Given the description of an element on the screen output the (x, y) to click on. 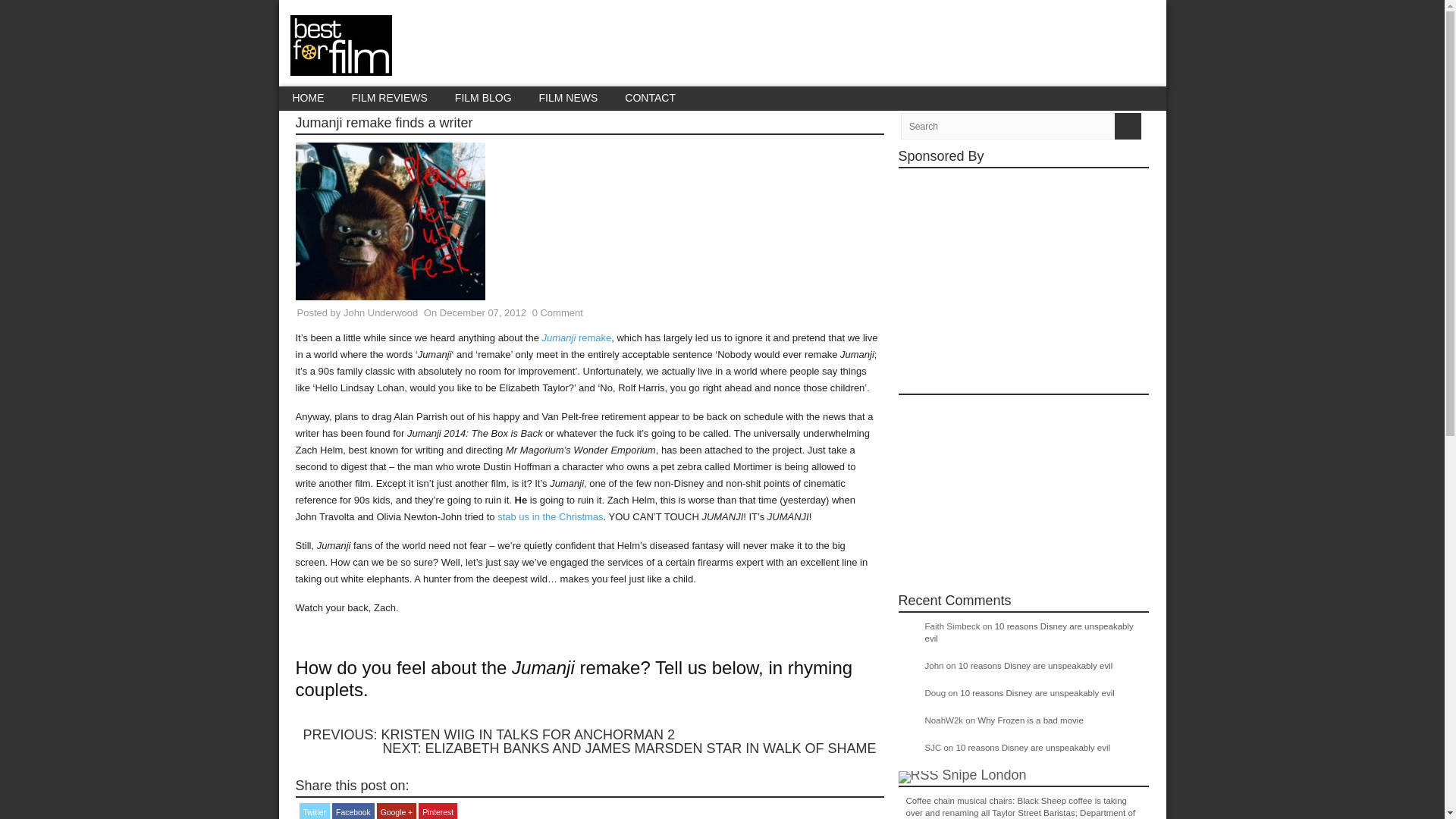
Jumanji (558, 337)
Best For Film (340, 67)
Best For Film - Jumanji (558, 337)
PREVIOUS: KRISTEN WIIG IN TALKS FOR ANCHORMAN 2 (488, 734)
Share on Pinterest! (438, 811)
FILM NEWS (568, 97)
FILM REVIEWS (389, 97)
Twitter (314, 811)
CONTACT (649, 97)
HOME (308, 97)
stab us in the Christmas (549, 516)
Search (1128, 126)
Tweet this! (314, 811)
remake (594, 337)
